Given the description of an element on the screen output the (x, y) to click on. 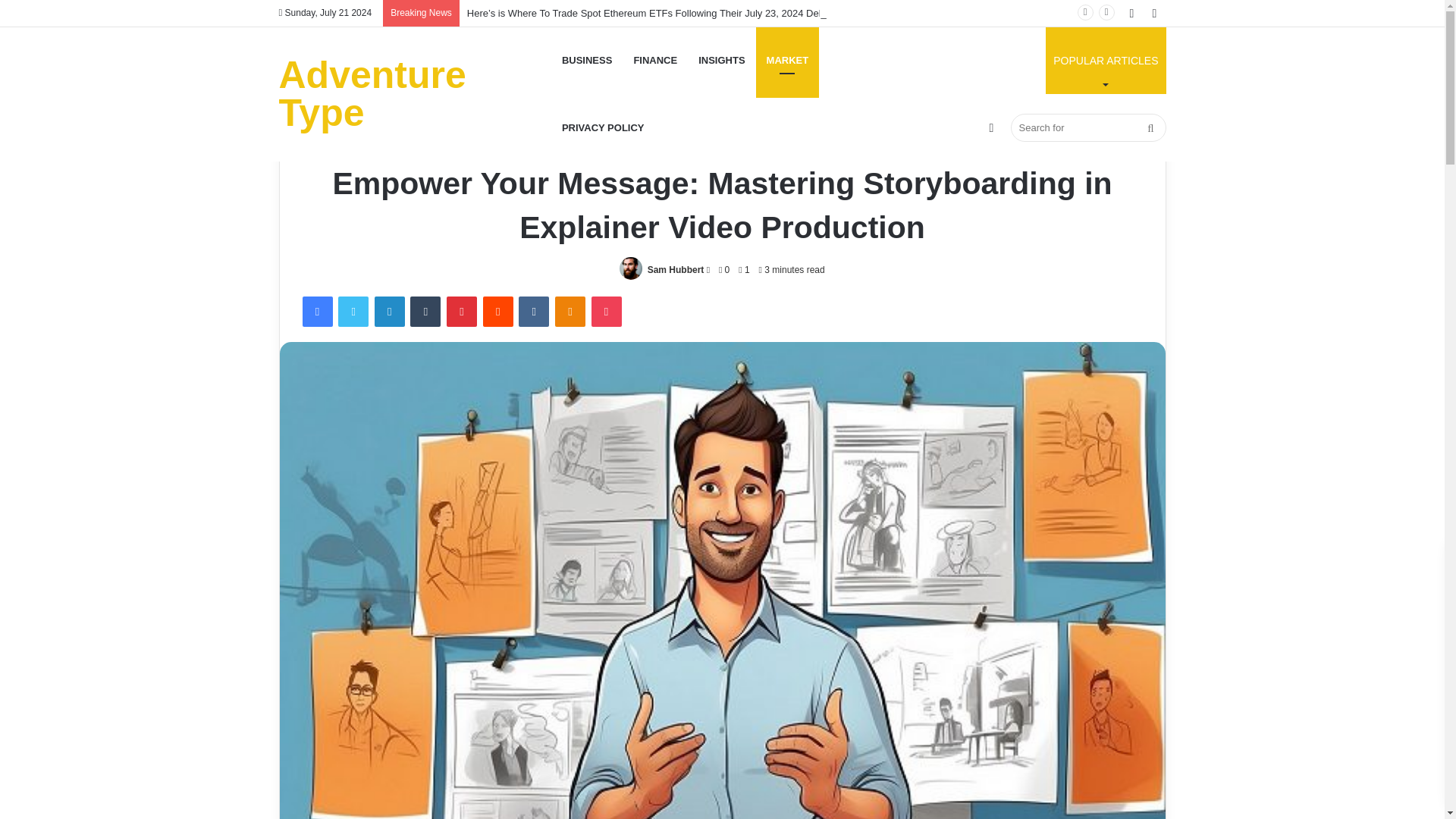
Search for (1088, 127)
BUSINESS (587, 60)
Twitter (352, 311)
Pinterest (461, 311)
Facebook (316, 311)
Adventure Type (415, 93)
Facebook (316, 311)
MARKET (787, 60)
Reddit (498, 311)
INSIGHTS (721, 60)
Sam Hubbert (675, 269)
FINANCE (655, 60)
PRIVACY POLICY (603, 127)
Adventure Type (415, 93)
Tumblr (425, 311)
